Given the description of an element on the screen output the (x, y) to click on. 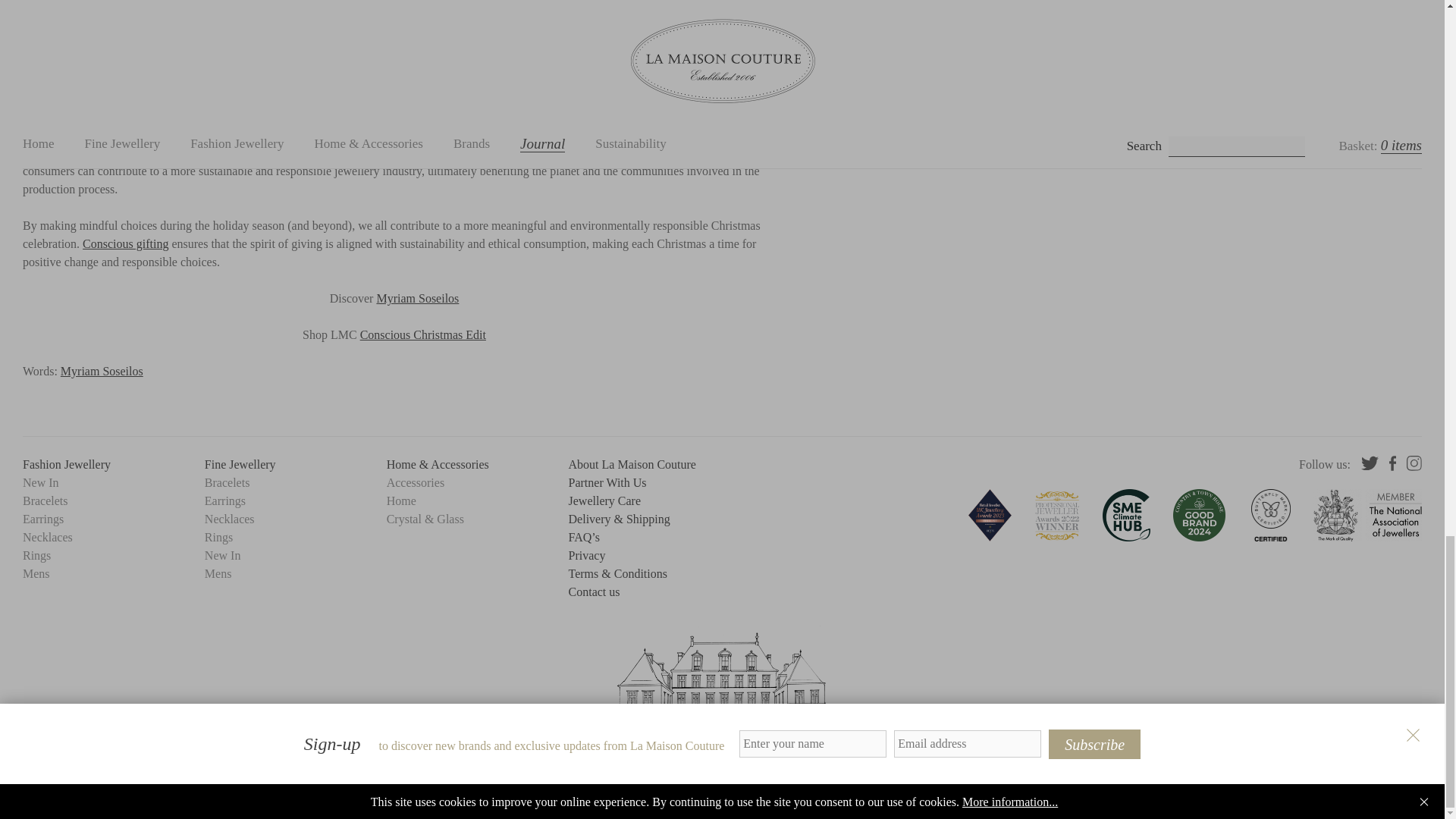
Country and Town House Good Brand 2024 (1199, 514)
SME Climate Hub (1126, 514)
Myriam Soseilos (101, 370)
Conscious Christmas Edit (422, 334)
Myriam Soseilos (416, 297)
Conscious gifting (125, 243)
